Given the description of an element on the screen output the (x, y) to click on. 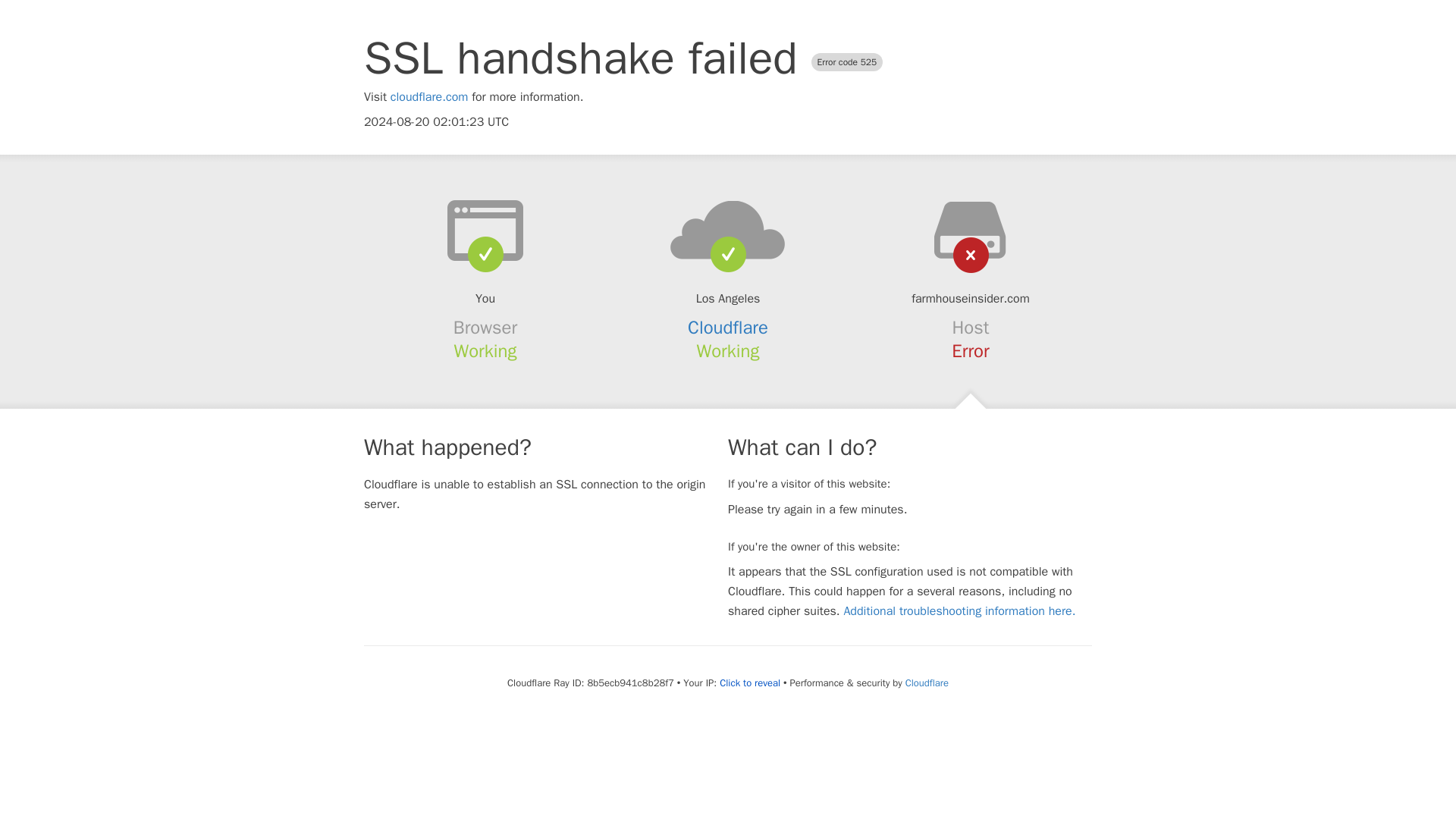
Cloudflare (927, 682)
Cloudflare (727, 327)
cloudflare.com (429, 96)
Click to reveal (749, 683)
Additional troubleshooting information here. (959, 611)
